Given the description of an element on the screen output the (x, y) to click on. 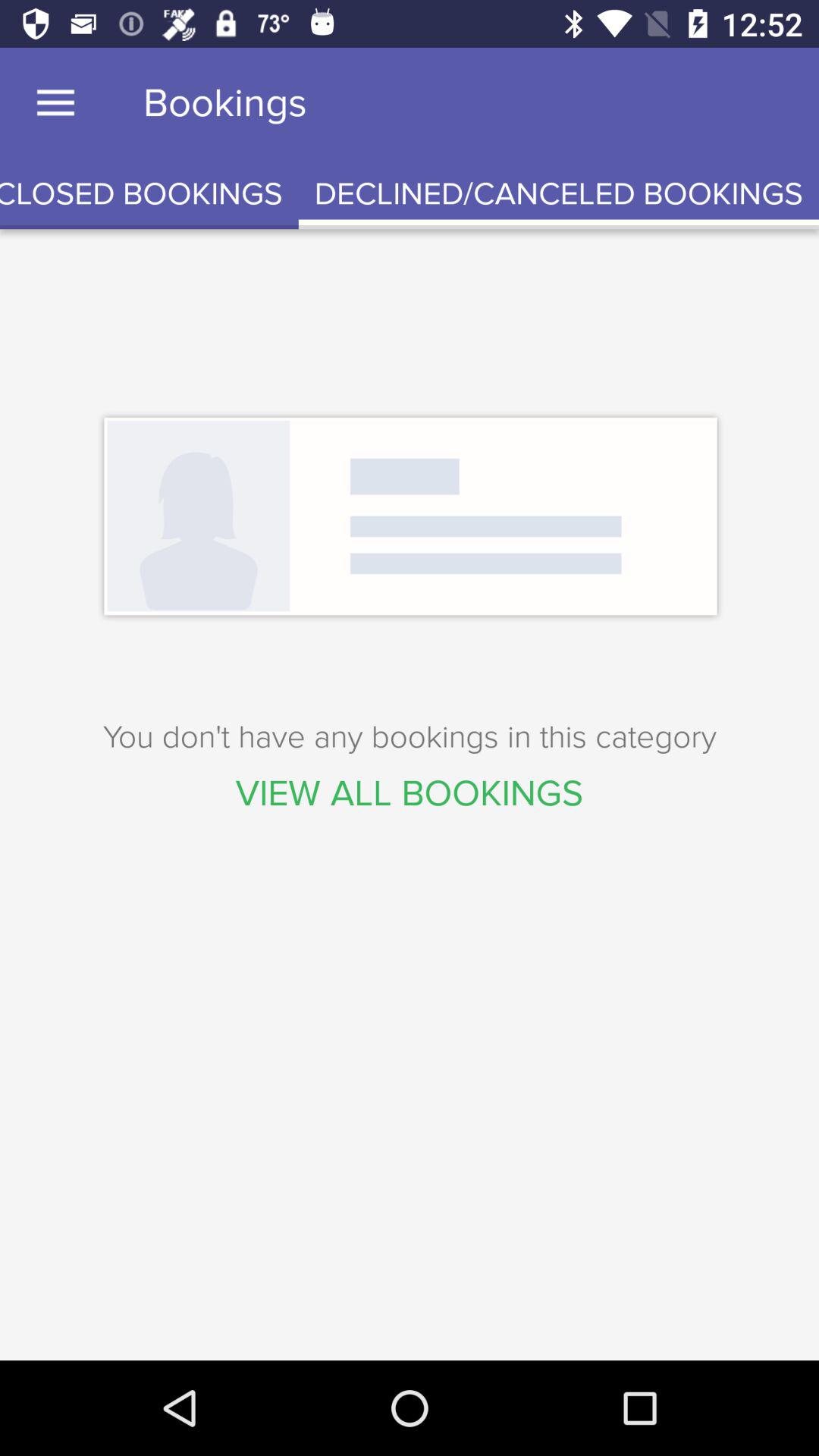
scroll to the declined/canceled bookings icon (558, 194)
